Given the description of an element on the screen output the (x, y) to click on. 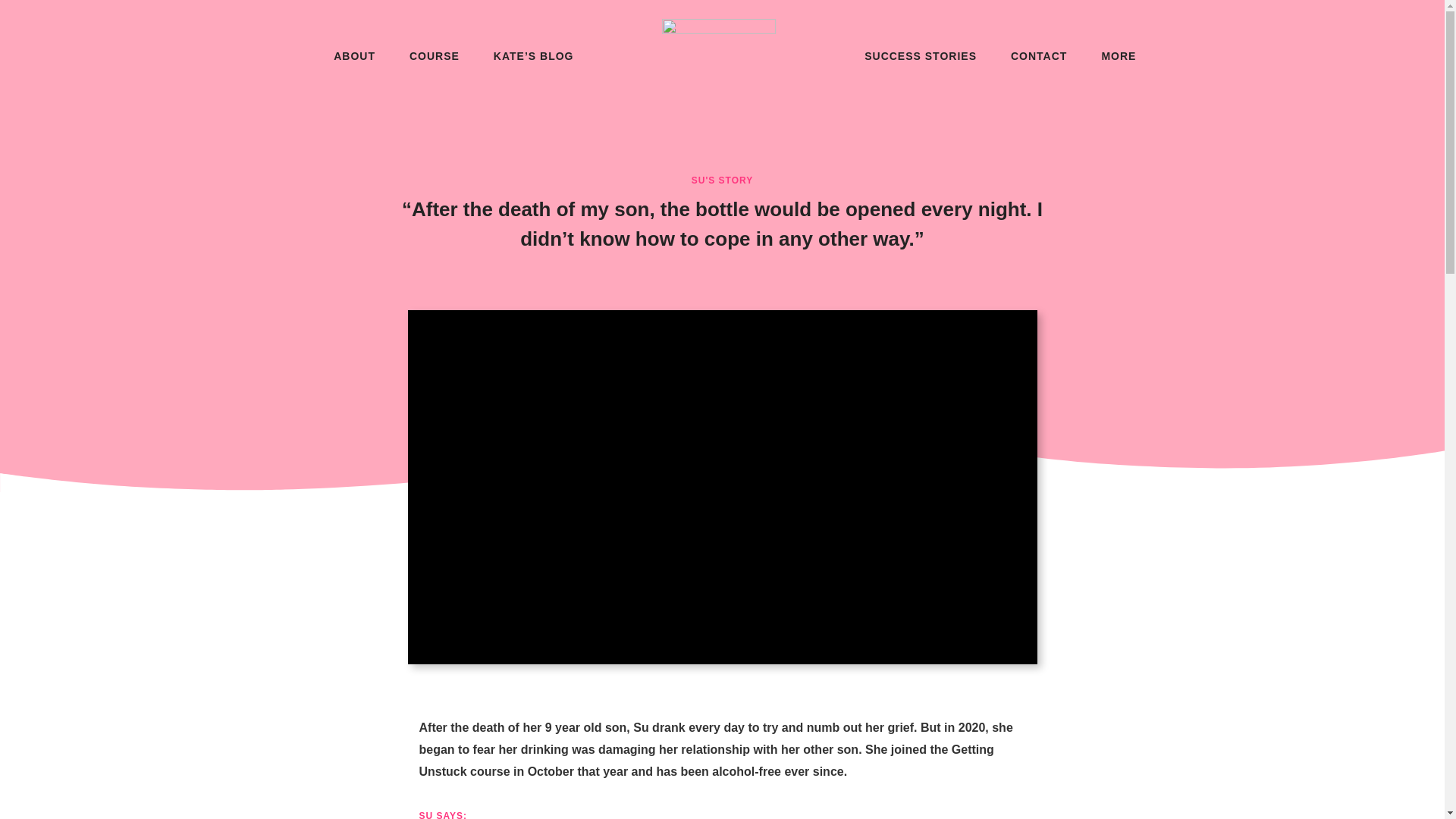
CONTACT (1038, 55)
ABOUT (354, 55)
MORE (1117, 56)
SUCCESS STORIES (920, 55)
COURSE (434, 55)
